Given the description of an element on the screen output the (x, y) to click on. 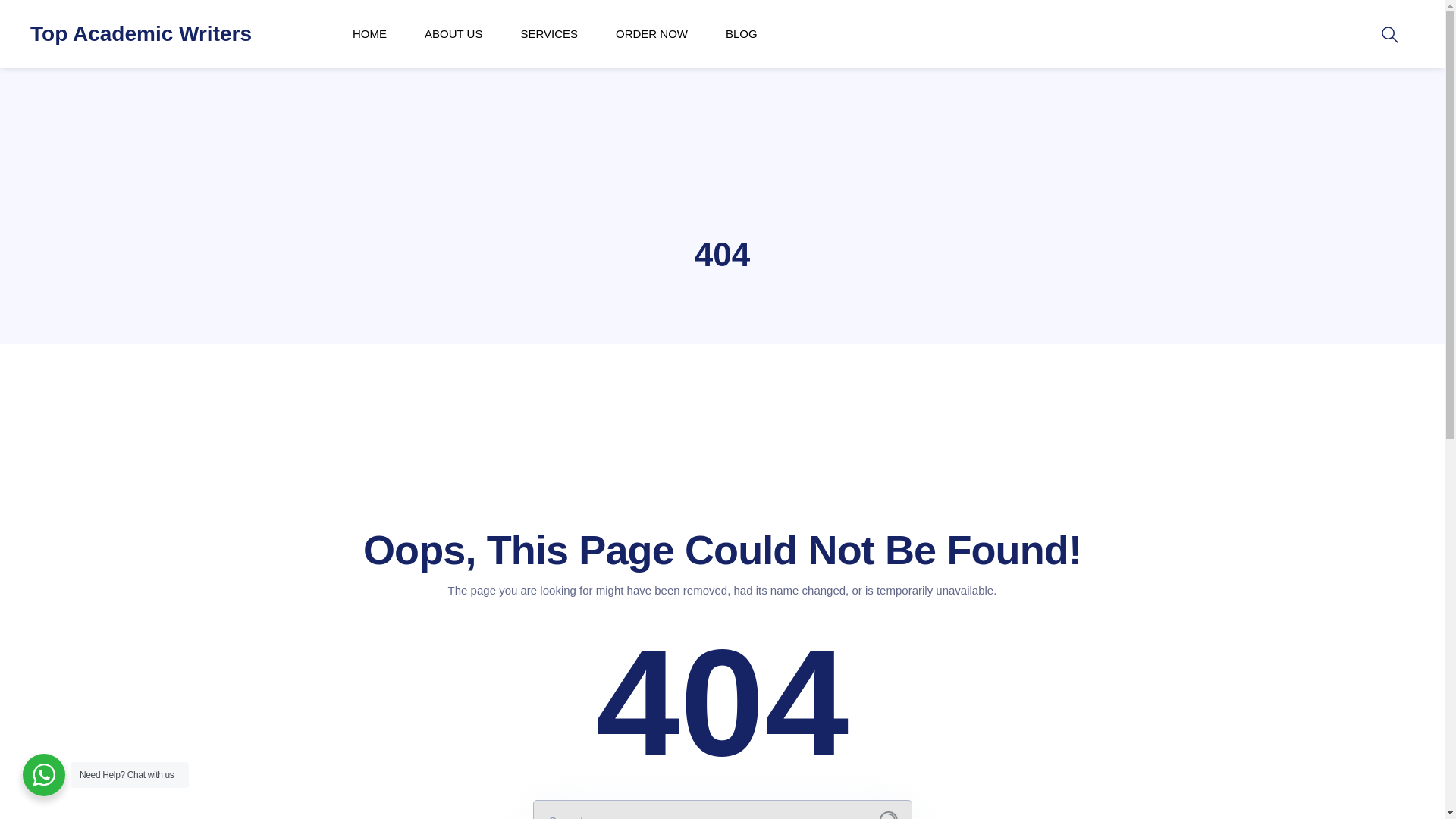
ORDER NOW (651, 33)
Search (9, 9)
BLOG (741, 33)
Search... (888, 815)
Top Academic Writers (140, 33)
HOME (369, 33)
SERVICES (548, 33)
ABOUT US (453, 33)
